Given the description of an element on the screen output the (x, y) to click on. 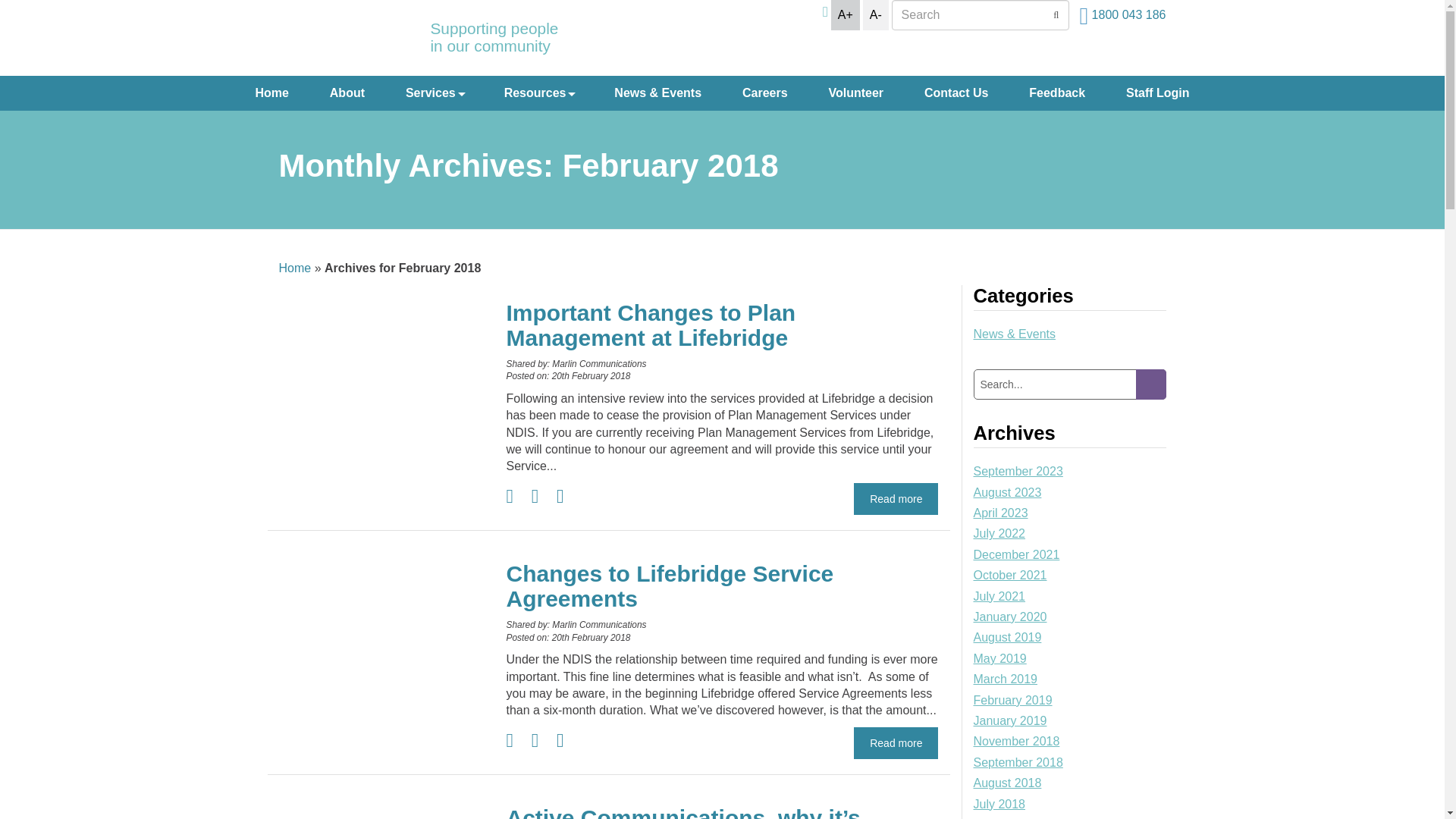
May 2019 Element type: text (999, 660)
October 2021 Element type: text (1010, 577)
A- Element type: text (875, 15)
July 2021 Element type: text (999, 598)
Resources Element type: text (539, 92)
Important Changes to Plan Management at Lifebridge Element type: hover (381, 341)
Read more Element type: text (895, 743)
July 2018 Element type: text (999, 806)
January 2020 Element type: text (1010, 618)
November 2018 Element type: text (1016, 743)
Contact Us Element type: text (956, 92)
December 2021 Element type: text (1016, 556)
Important Changes to Plan Management at Lifebridge Element type: text (721, 325)
September 2023 Element type: text (1018, 473)
Toggle High Contrast Element type: hover (825, 12)
Search Element type: text (1150, 384)
August 2019 Element type: text (1007, 639)
About Element type: text (346, 92)
1800 043 186 Element type: text (1122, 15)
July 2022 Element type: text (999, 535)
Changes to Lifebridge Service Agreements Element type: hover (381, 602)
Careers Element type: text (764, 92)
News & Events Element type: text (657, 92)
A+ Element type: text (845, 15)
News & Events Element type: text (1014, 336)
April 2023 Element type: text (1000, 515)
March 2019 Element type: text (1005, 681)
Feedback Element type: text (1057, 92)
August 2018 Element type: text (1007, 785)
January 2019 Element type: text (1010, 722)
Read more Element type: text (895, 498)
Home Element type: text (271, 92)
February 2019 Element type: text (1012, 702)
Staff Login Element type: text (1157, 92)
Home Element type: text (295, 268)
August 2023 Element type: text (1007, 494)
Services Element type: text (434, 92)
Volunteer Element type: text (855, 92)
Changes to Lifebridge Service Agreements Element type: text (721, 586)
September 2018 Element type: text (1018, 764)
